Given the description of an element on the screen output the (x, y) to click on. 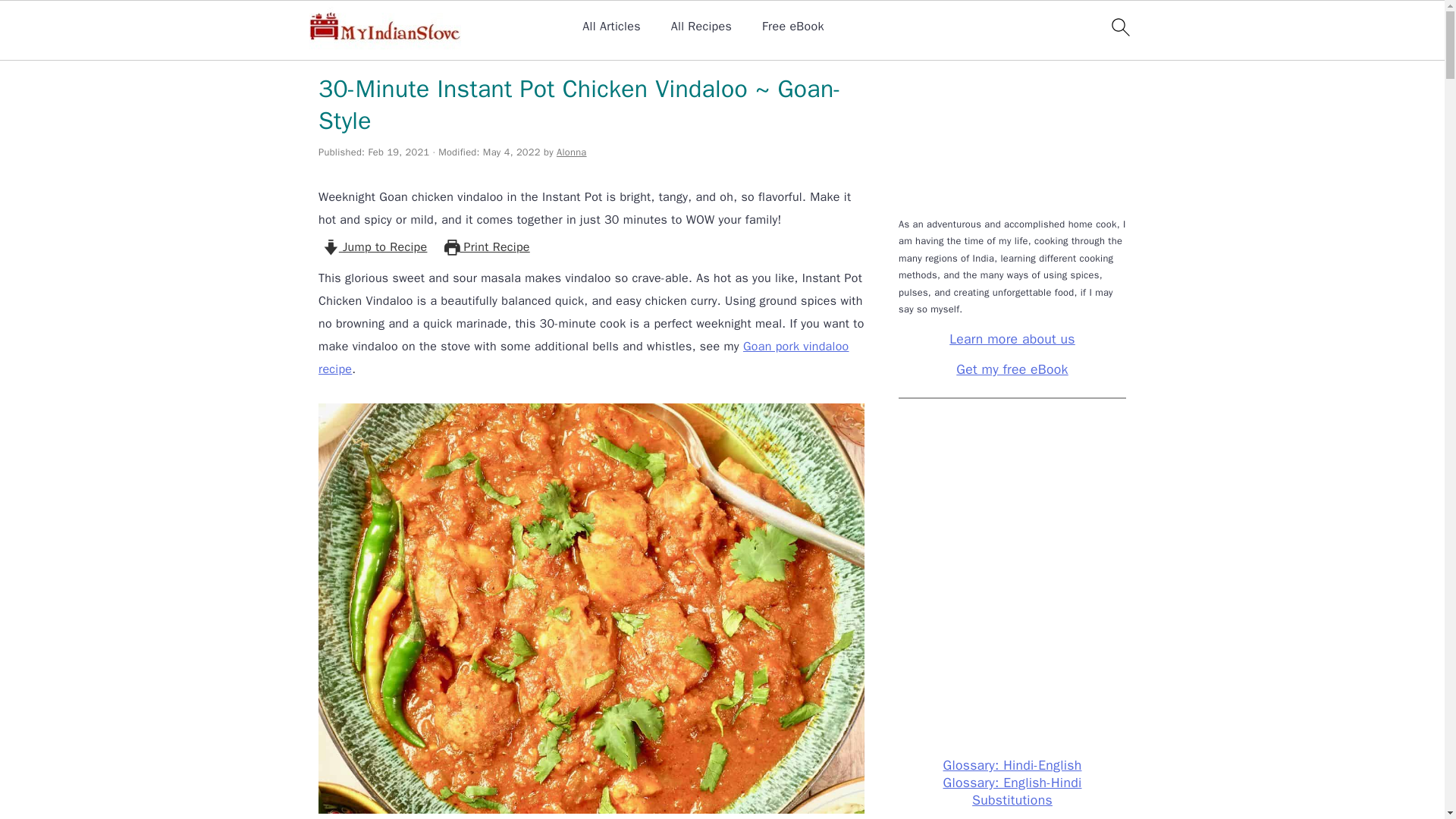
search icon (1119, 26)
